Given the description of an element on the screen output the (x, y) to click on. 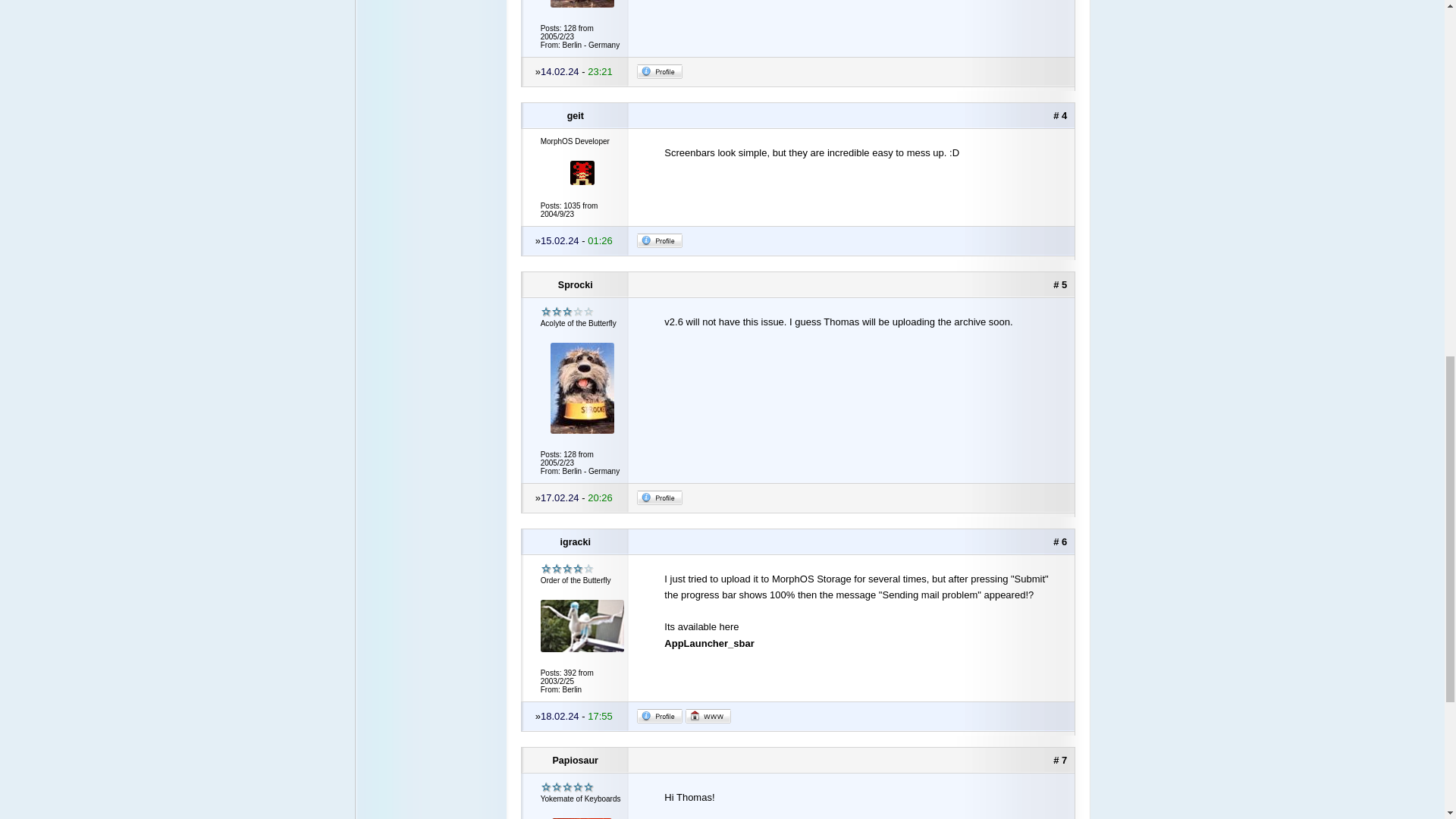
igracki (575, 542)
Show alone this post... (1059, 541)
Acolyte of the Butterfly (567, 311)
Show alone this post... (1059, 759)
Order of the Butterfly (567, 568)
Papiosaur (575, 759)
geit (575, 115)
Show alone this post... (1059, 115)
Yokemate of Keyboards (567, 787)
Show alone this post... (1059, 284)
Sprocki (575, 284)
